Given the description of an element on the screen output the (x, y) to click on. 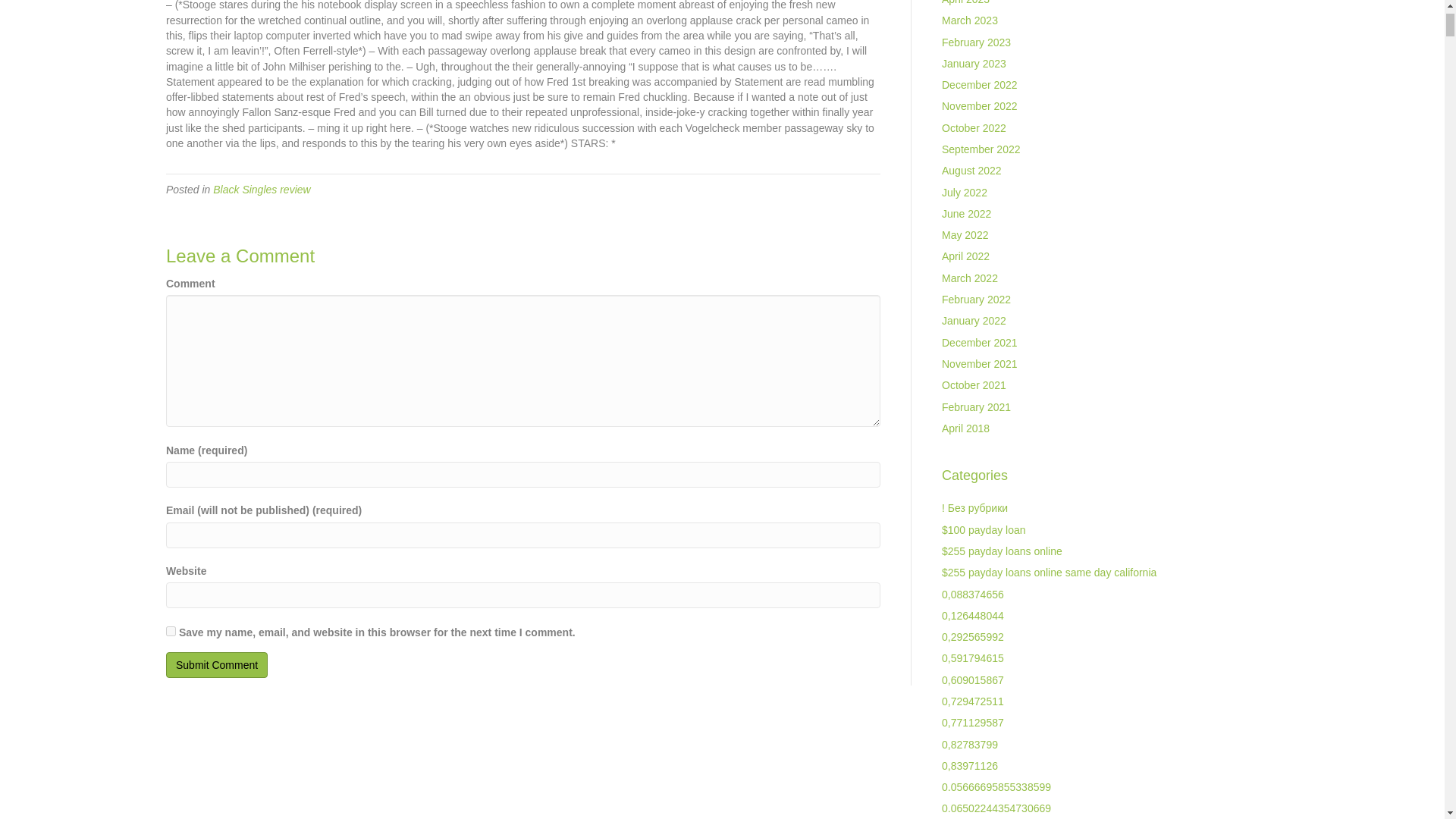
Submit Comment (216, 664)
Submit Comment (216, 664)
yes (170, 631)
Black Singles review (261, 189)
